Given the description of an element on the screen output the (x, y) to click on. 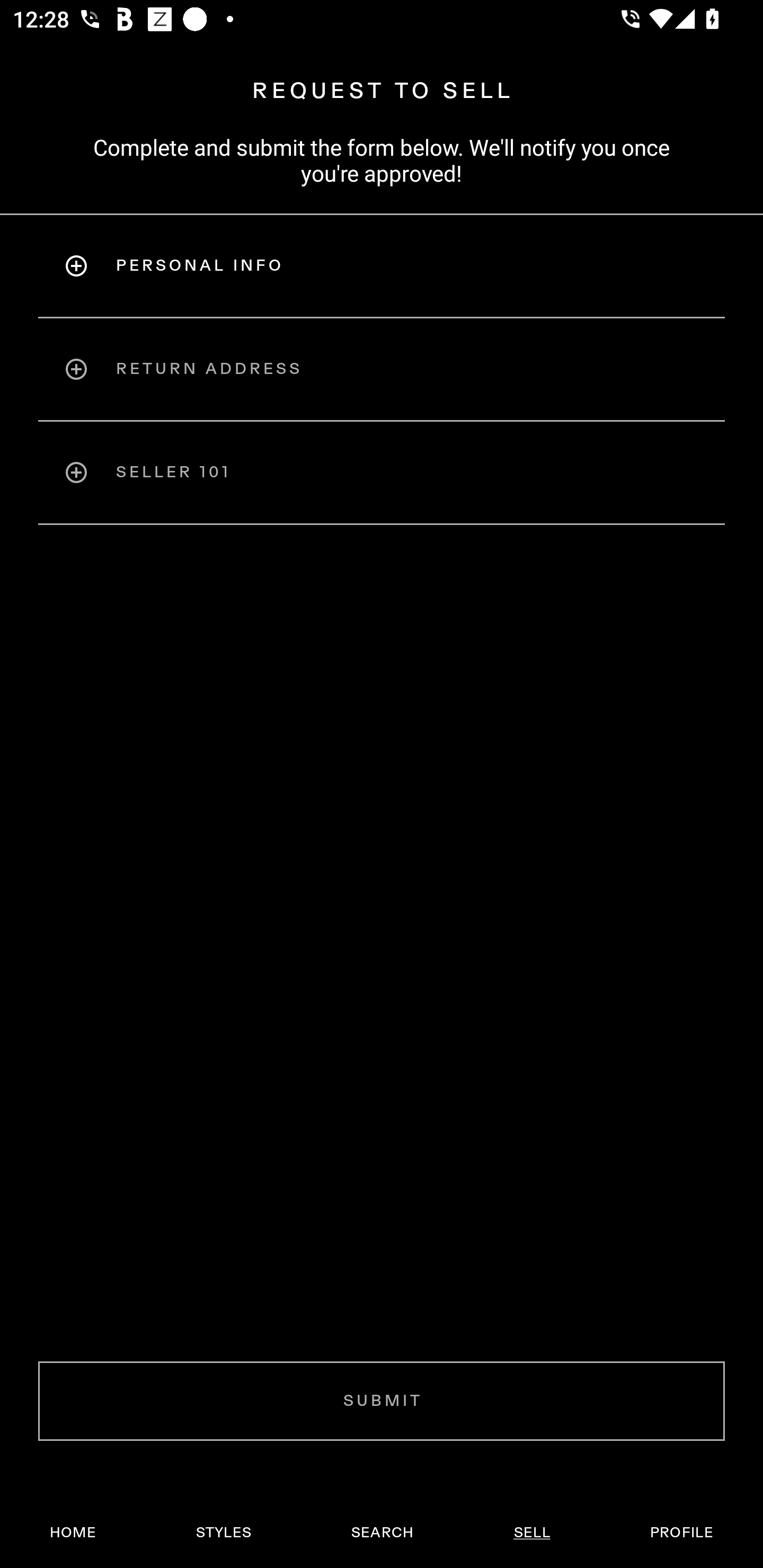
PERSONAL INFO (381, 265)
RETURN ADDRESS (381, 369)
SELLER 101 (381, 472)
SUBMIT (381, 1400)
HOME (72, 1532)
STYLES (222, 1532)
SEARCH (381, 1532)
SELL (531, 1532)
PROFILE (681, 1532)
